Given the description of an element on the screen output the (x, y) to click on. 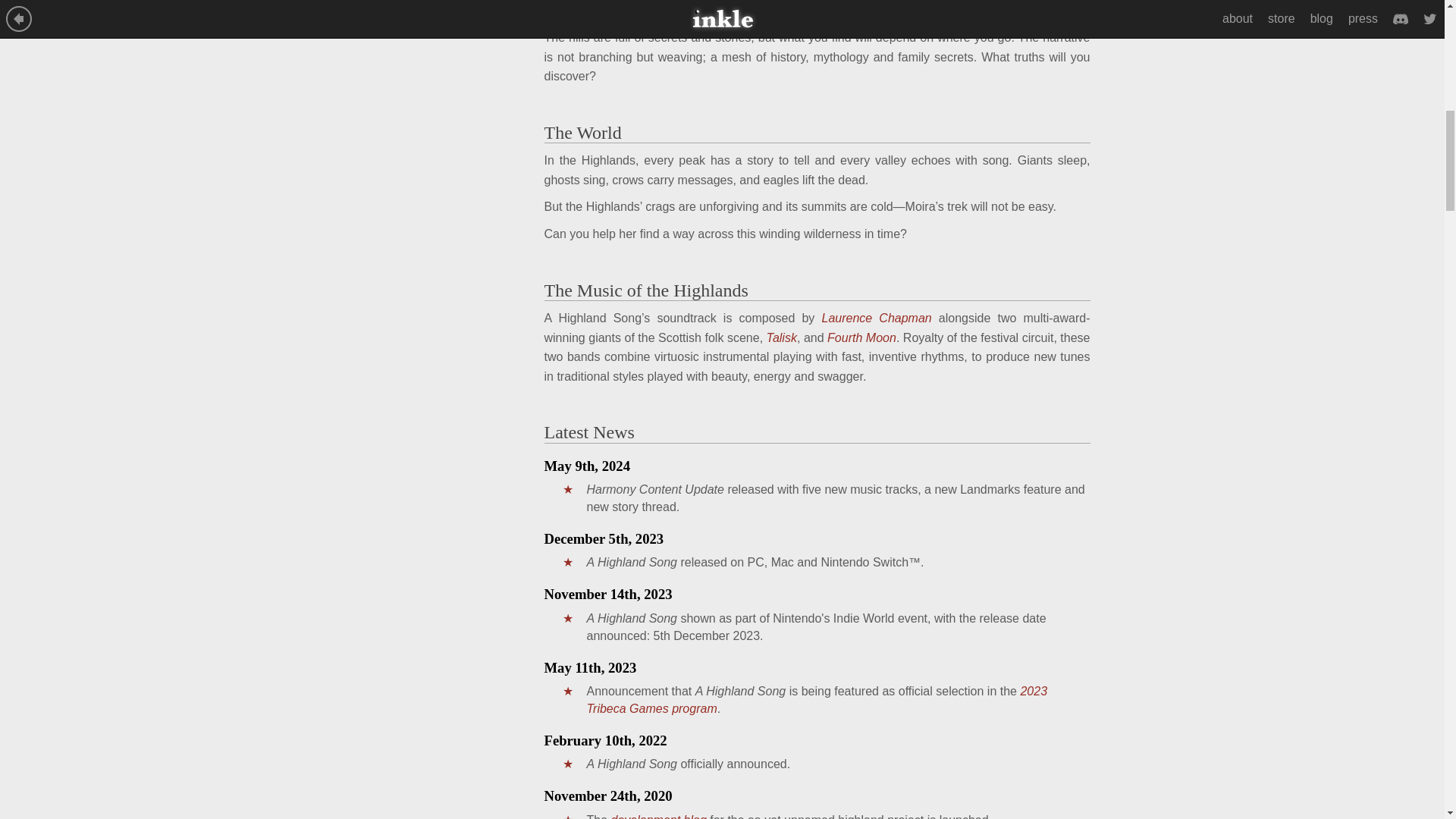
development blog (658, 816)
Laurence Chapman (876, 318)
2023 Tribeca Games program (817, 699)
Fourth Moon (861, 337)
Talisk (781, 337)
